Given the description of an element on the screen output the (x, y) to click on. 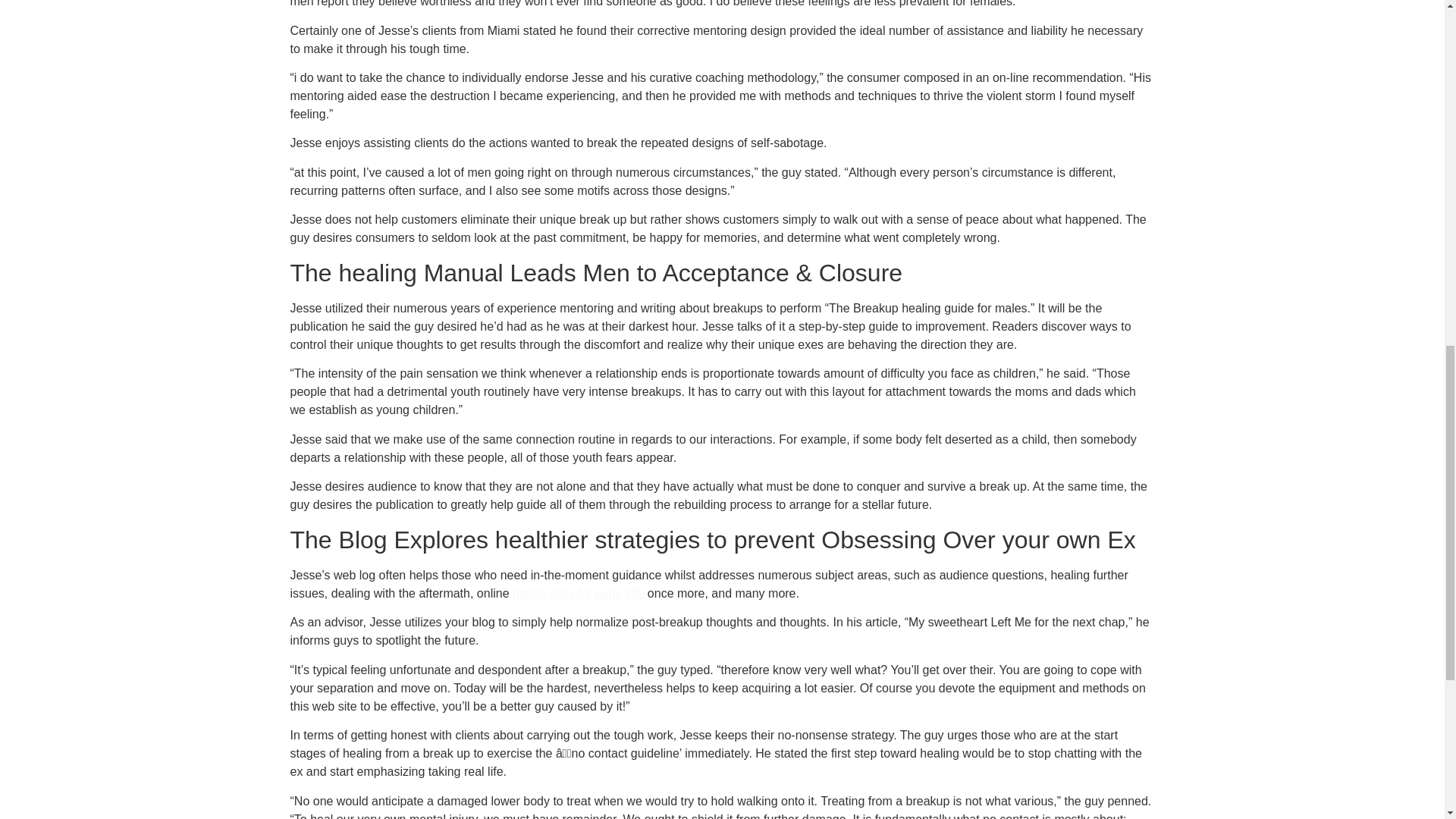
dating sites for early 20s (577, 593)
